Given the description of an element on the screen output the (x, y) to click on. 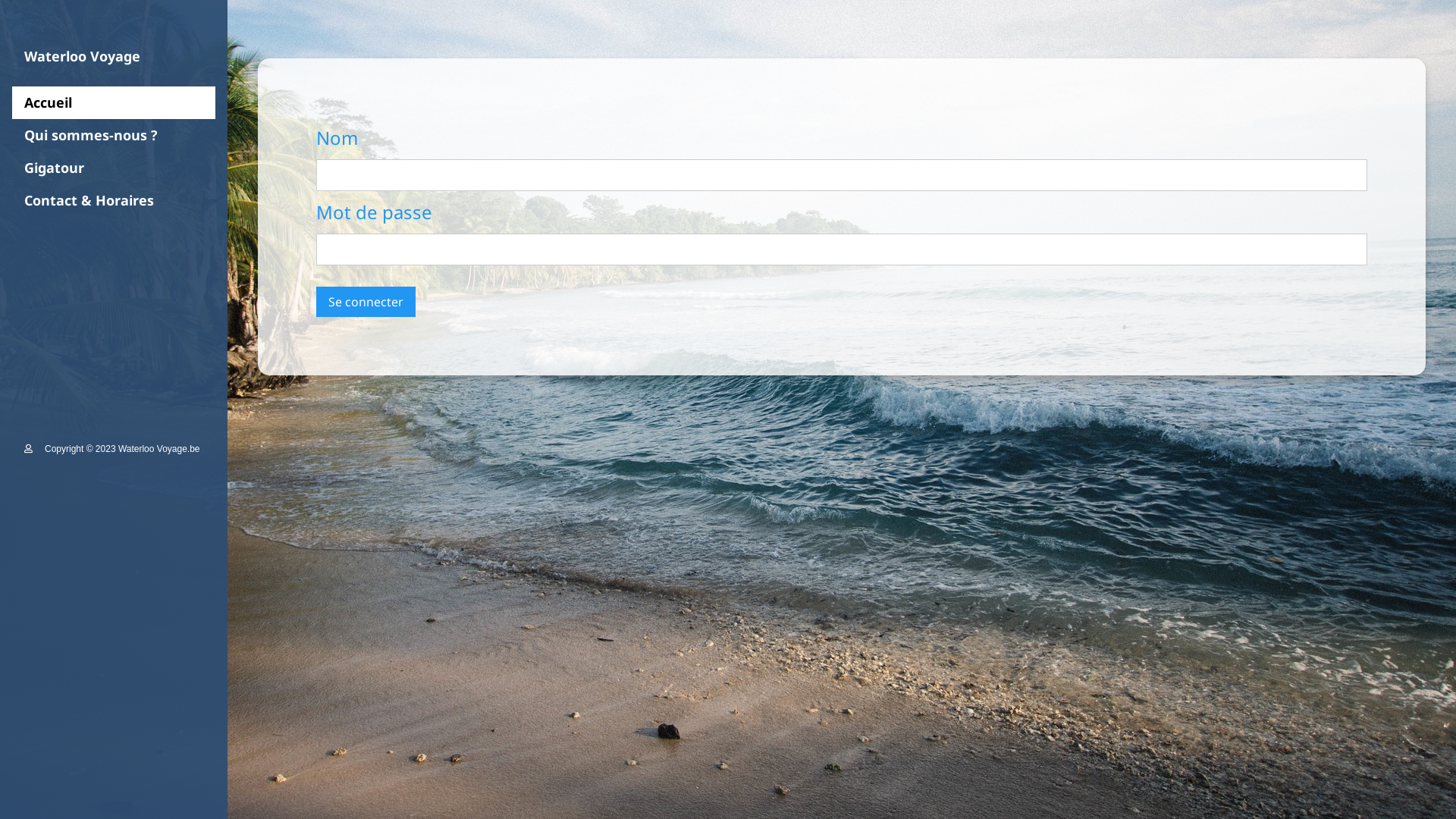
Contact & Horaires Element type: text (113, 200)
Se connecter Element type: text (365, 301)
Qui sommes-nous ? Element type: text (113, 135)
Accueil Element type: text (113, 102)
Gigatour Element type: text (113, 167)
